Given the description of an element on the screen output the (x, y) to click on. 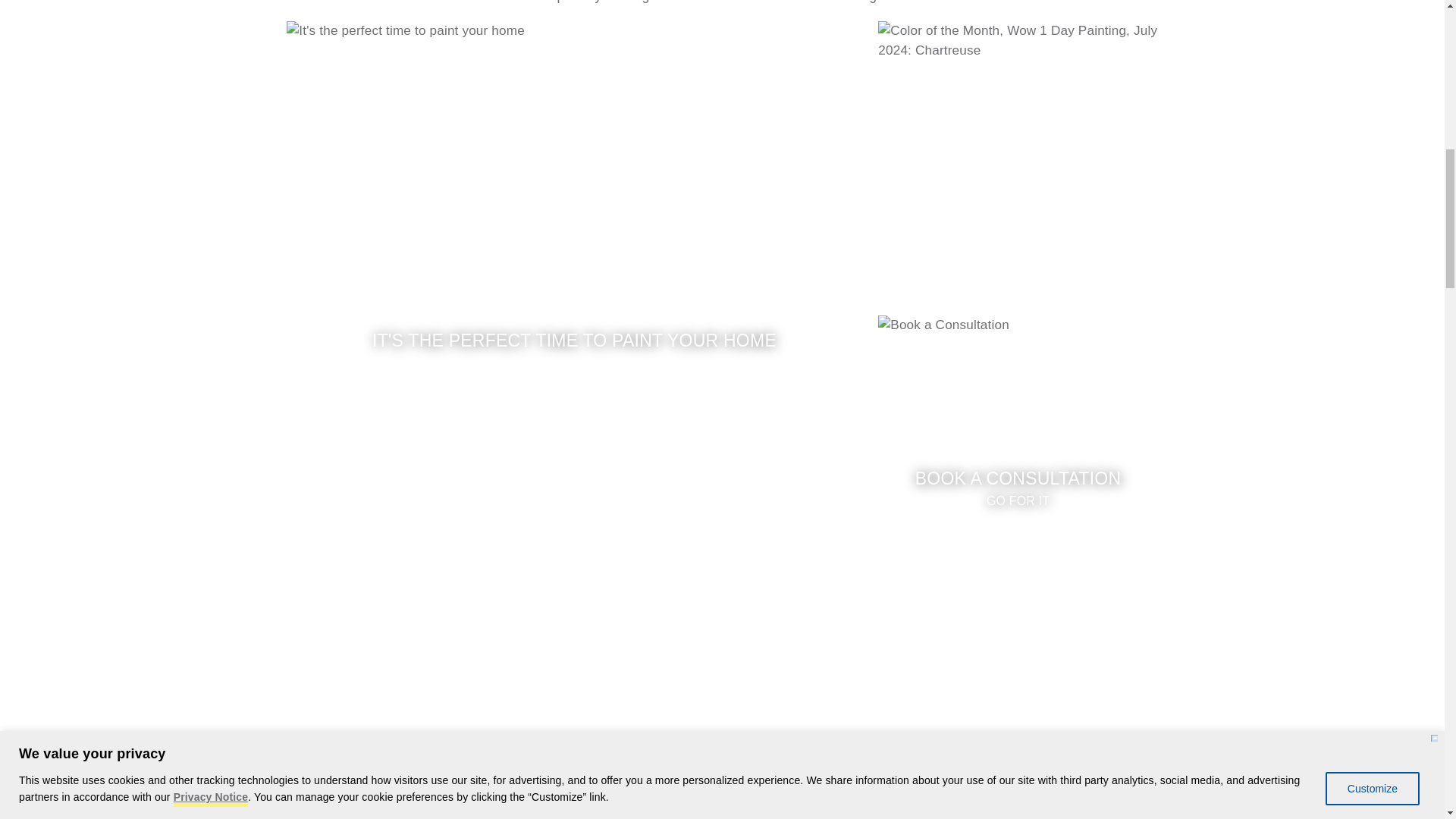
Image (499, 715)
Image (1017, 456)
Book a Consultation  (1017, 456)
Image (943, 715)
Image (1017, 160)
